Given the description of an element on the screen output the (x, y) to click on. 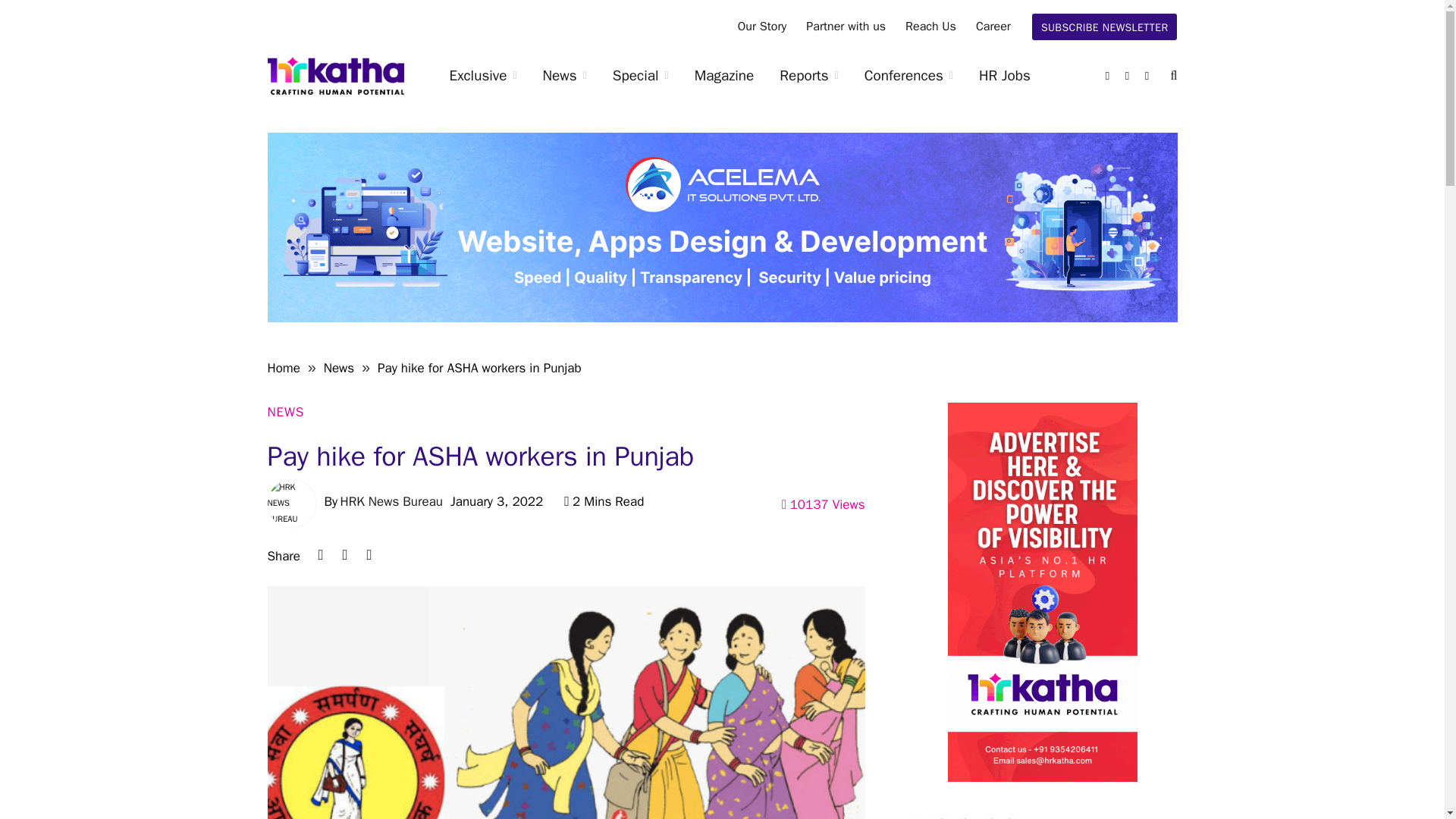
Posts by HRK News Bureau (390, 501)
Special (640, 75)
Career (993, 26)
Exclusive (482, 75)
Partner with us (845, 26)
HR Katha (334, 76)
SUBSCRIBE NEWSLETTER (1104, 26)
Reach Us (930, 26)
Search (1172, 75)
Share on Facebook (369, 554)
News (564, 75)
Share on LinkedIn (319, 554)
Our Story (762, 26)
